Given the description of an element on the screen output the (x, y) to click on. 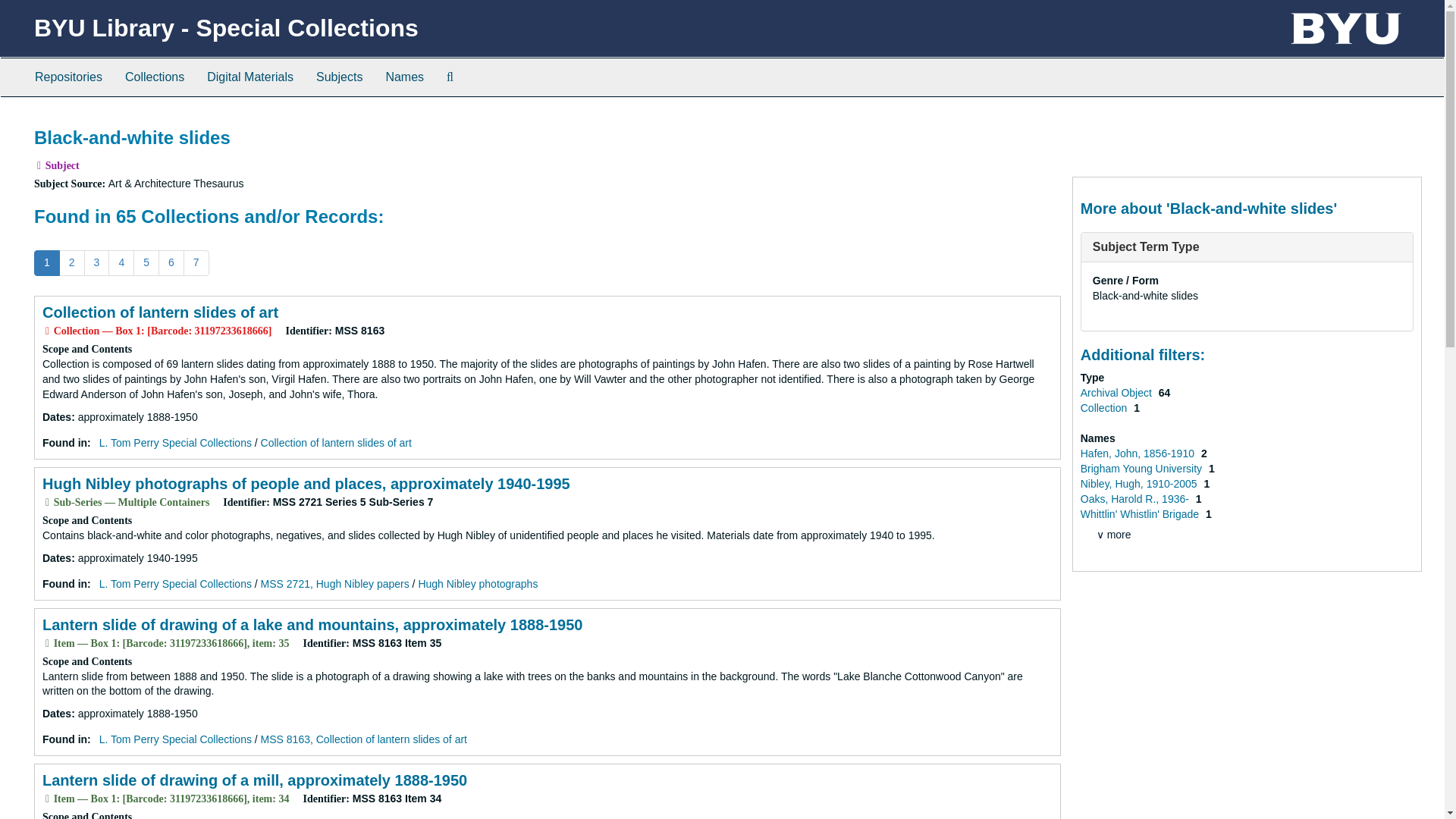
Page Actions (1130, 120)
1 (46, 263)
3 (97, 263)
Filter By 'Oaks, Harold R., 1936-' (1136, 499)
Filter By 'Hafen, John, 1856-1910' (1138, 453)
Filter By 'Nibley, Hugh, 1910-2005' (1139, 483)
Hugh Nibley photographs (477, 583)
Repositories (68, 77)
L. Tom Perry Special Collections (175, 739)
Digital Materials (249, 77)
Return to the homepage (226, 27)
Collection of lantern slides of art (160, 312)
4 (120, 263)
6 (171, 263)
